Given the description of an element on the screen output the (x, y) to click on. 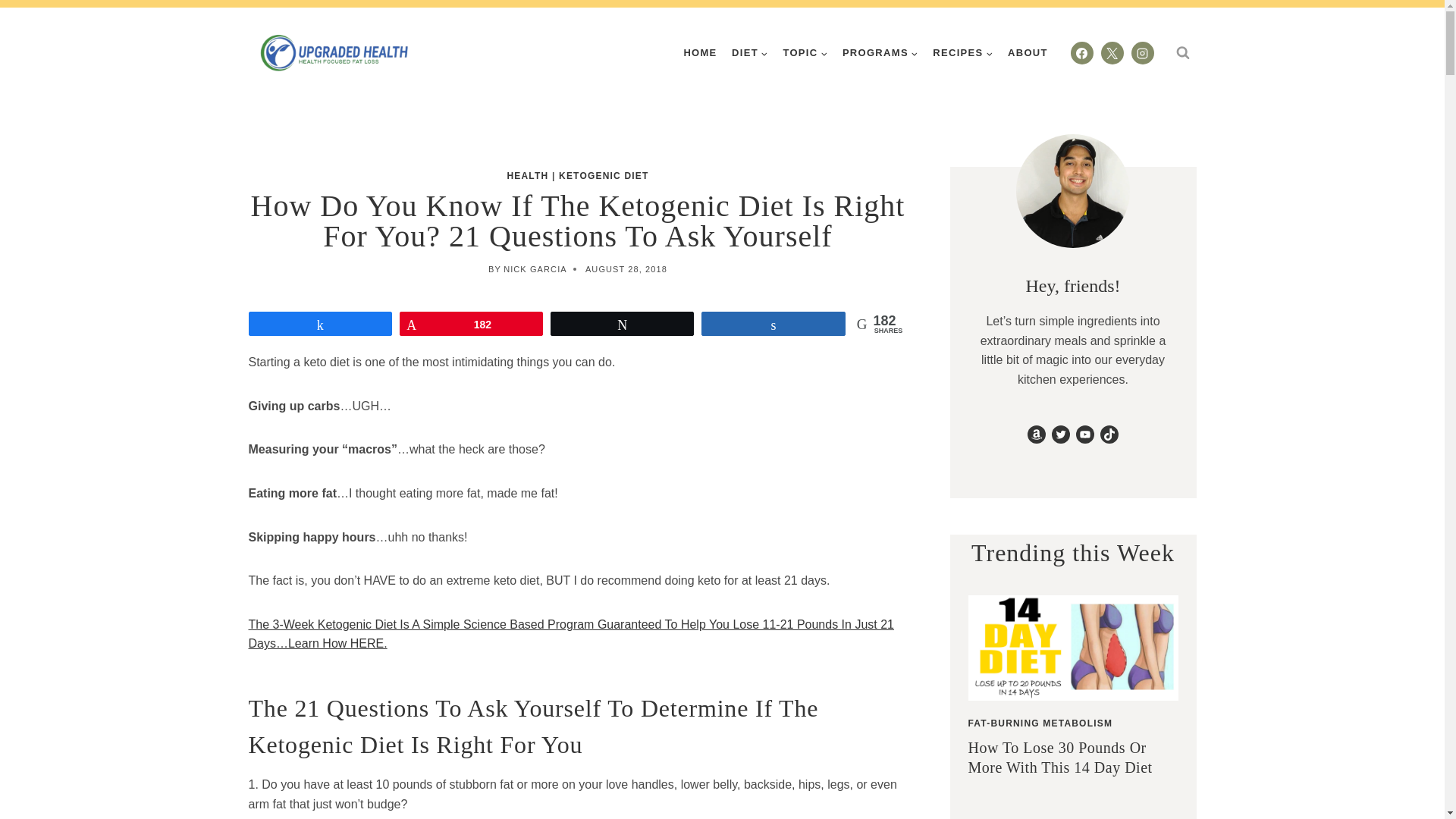
HOME (701, 51)
RECIPES (963, 51)
TOPIC (805, 51)
PROGRAMS (879, 51)
ABOUT (1027, 51)
DIET (748, 51)
